Given the description of an element on the screen output the (x, y) to click on. 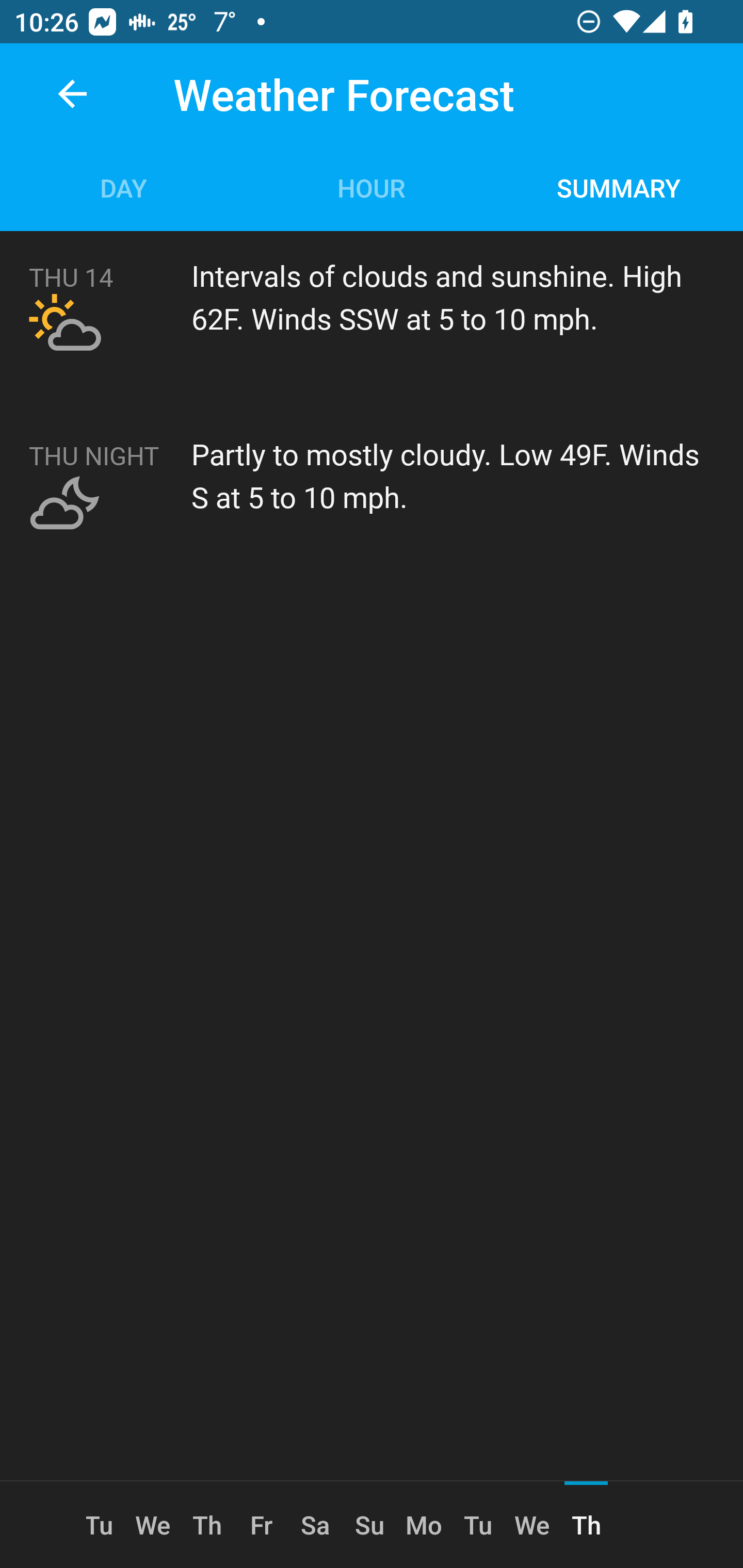
back (71, 93)
Day Tab DAY (123, 187)
Hour Tab HOUR (371, 187)
Tu (105, 1524)
We (152, 1524)
Th (206, 1524)
Fr (261, 1524)
Sa (315, 1524)
Su (369, 1524)
Mo (423, 1524)
Tu (478, 1524)
We (532, 1524)
